Given the description of an element on the screen output the (x, y) to click on. 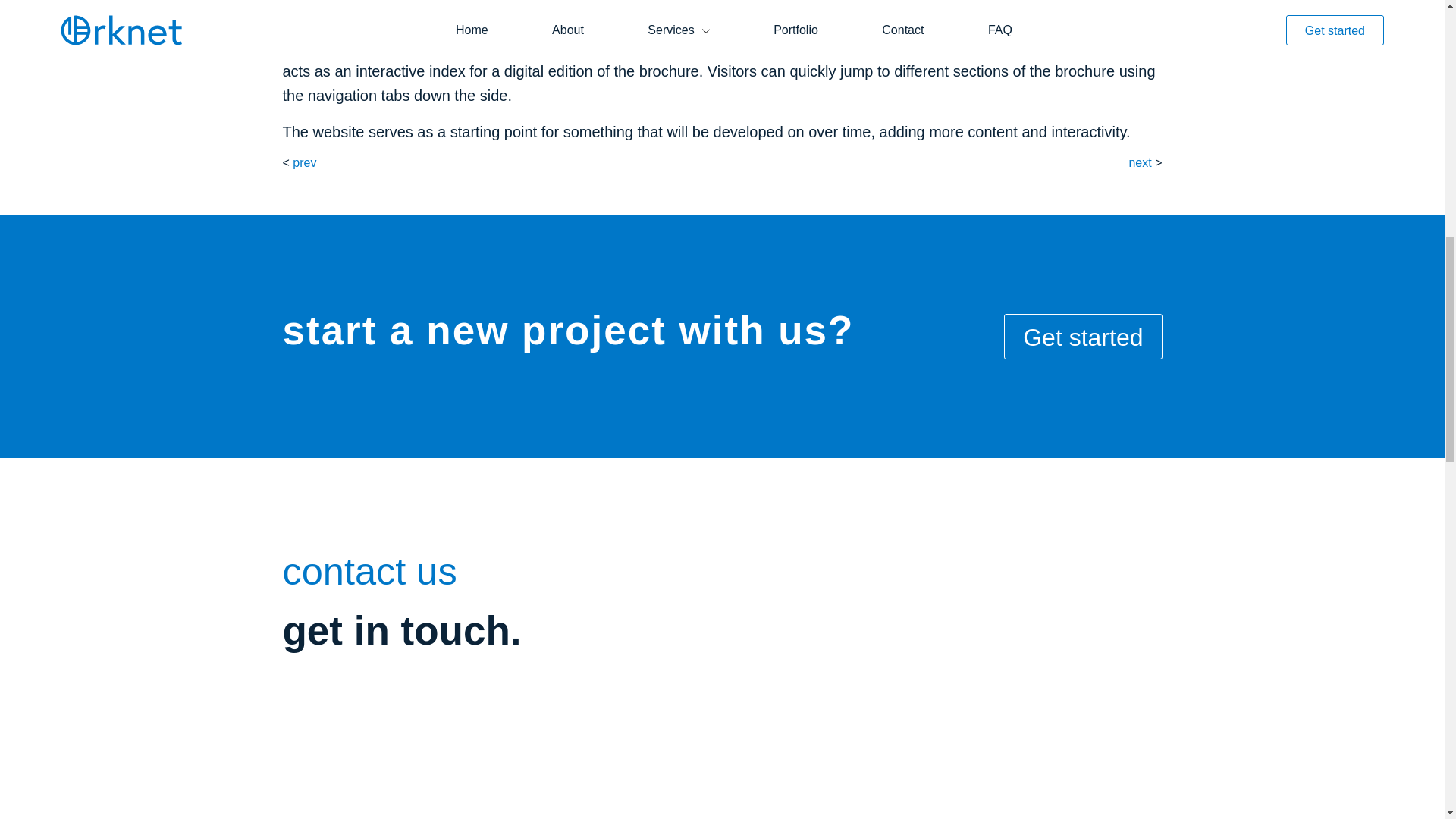
prev (303, 162)
Get started (1082, 336)
contact us (369, 570)
next (1139, 162)
